Given the description of an element on the screen output the (x, y) to click on. 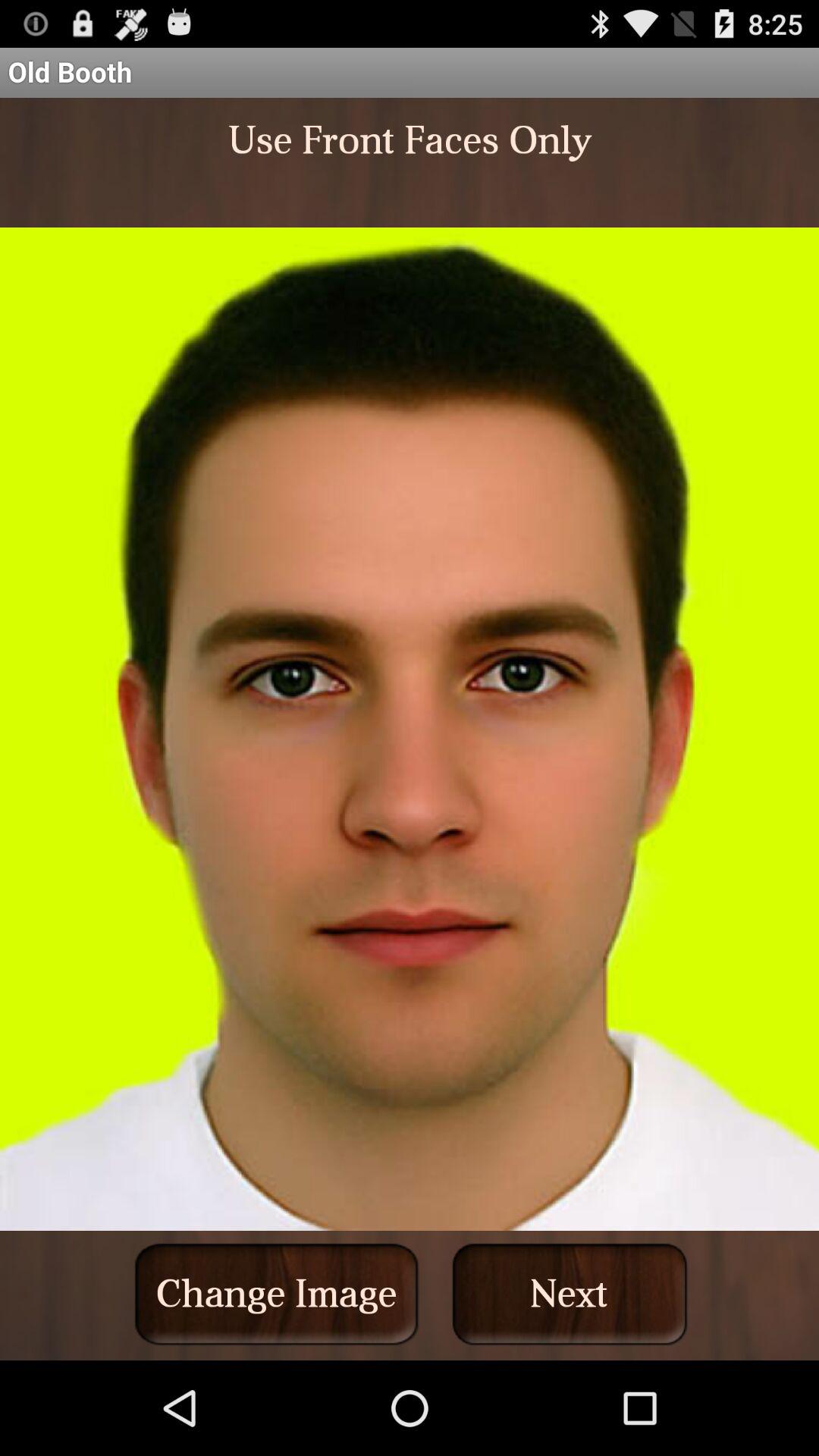
choose the next (569, 1293)
